Given the description of an element on the screen output the (x, y) to click on. 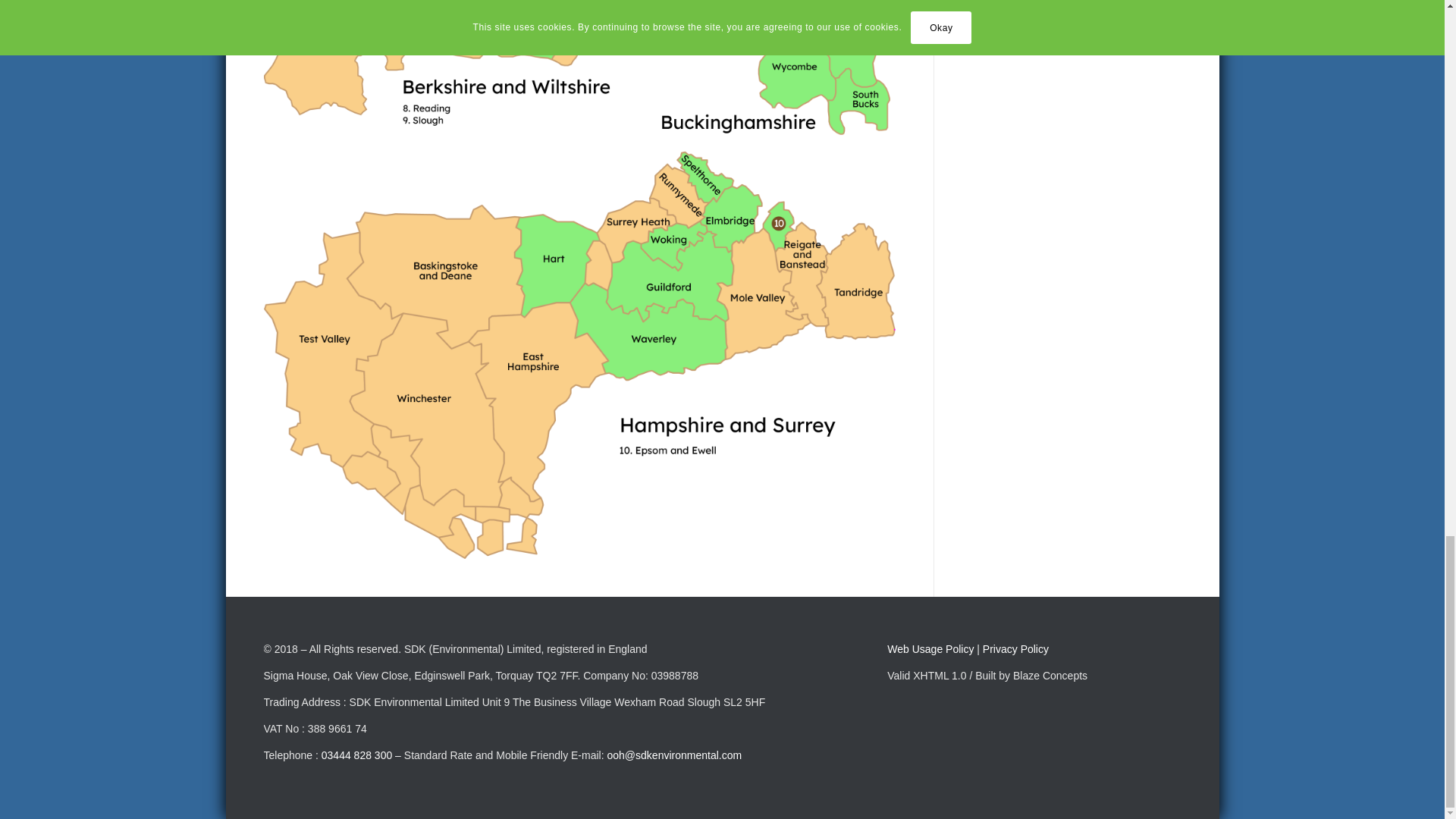
03444 828 300 (356, 755)
Web Usage Policy (930, 648)
